Given the description of an element on the screen output the (x, y) to click on. 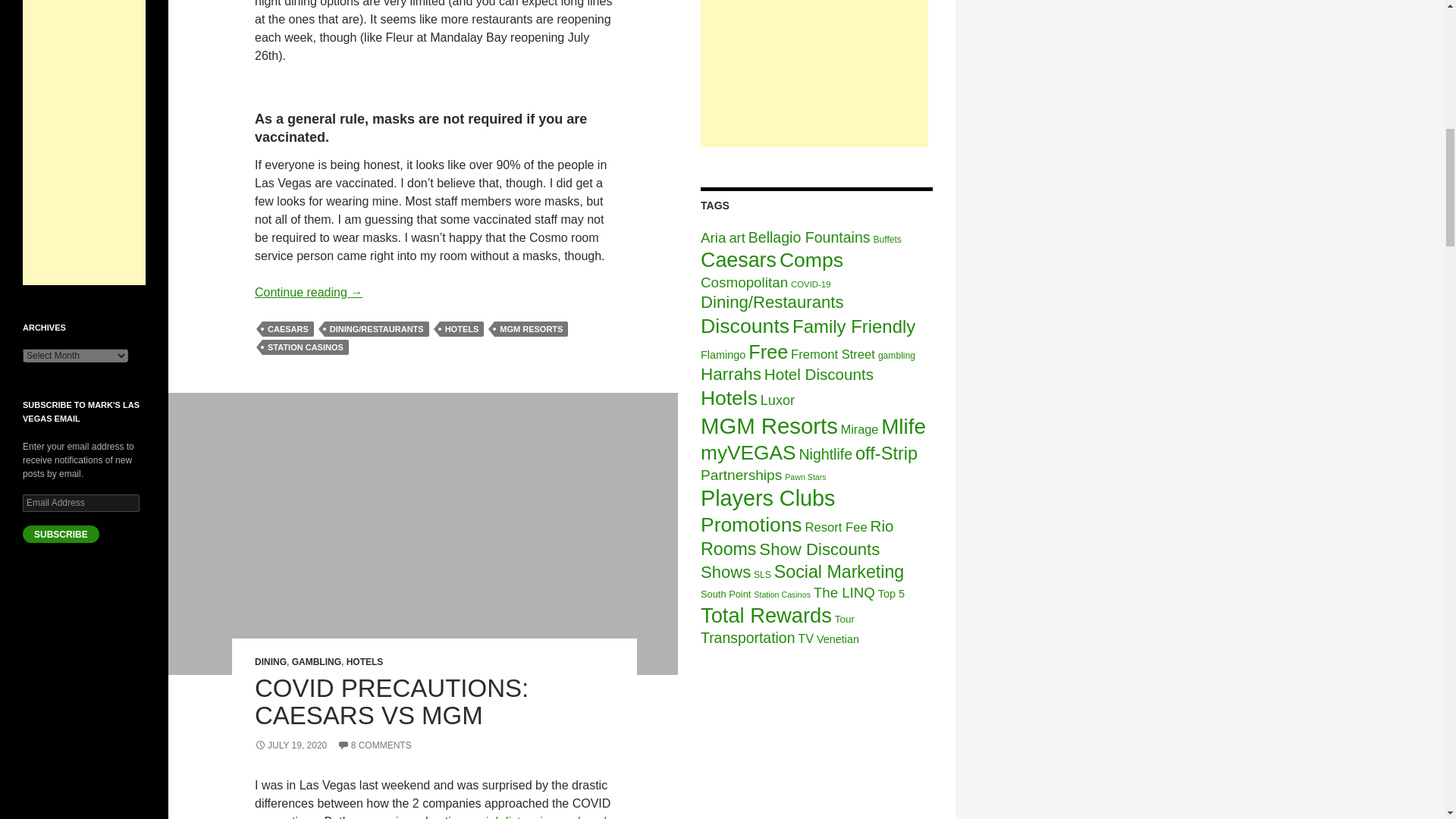
CAESARS (288, 328)
MGM RESORTS (531, 328)
GAMBLING (316, 661)
HOTELS (461, 328)
HOTELS (365, 661)
Advertisement (814, 73)
STATION CASINOS (305, 346)
Las Vegas Travel blogs (84, 639)
COVID PRECAUTIONS: CAESARS VS MGM (391, 701)
DINING (270, 661)
JULY 19, 2020 (290, 745)
8 COMMENTS (374, 745)
